Given the description of an element on the screen output the (x, y) to click on. 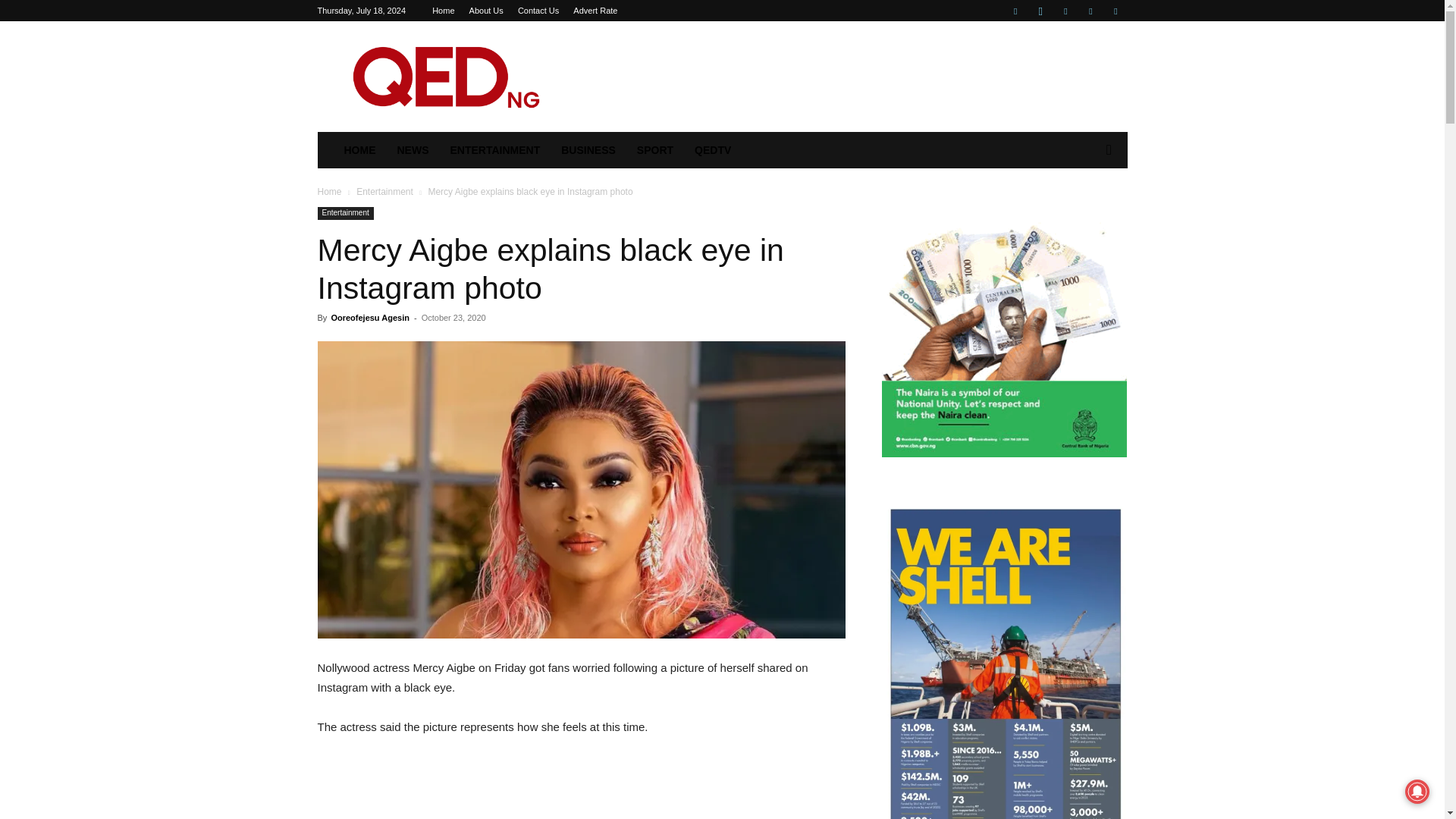
Home (328, 191)
Facebook (1015, 10)
Advertisement (850, 76)
Contact Us (538, 10)
Linkedin (1065, 10)
Entertainment (344, 213)
Advertisement (580, 787)
About Us (485, 10)
View all posts in Entertainment (384, 191)
Twitter (1090, 10)
HOME (360, 149)
BUSINESS (588, 149)
ENTERTAINMENT (495, 149)
Ooreofejesu Agesin (369, 317)
